Given the description of an element on the screen output the (x, y) to click on. 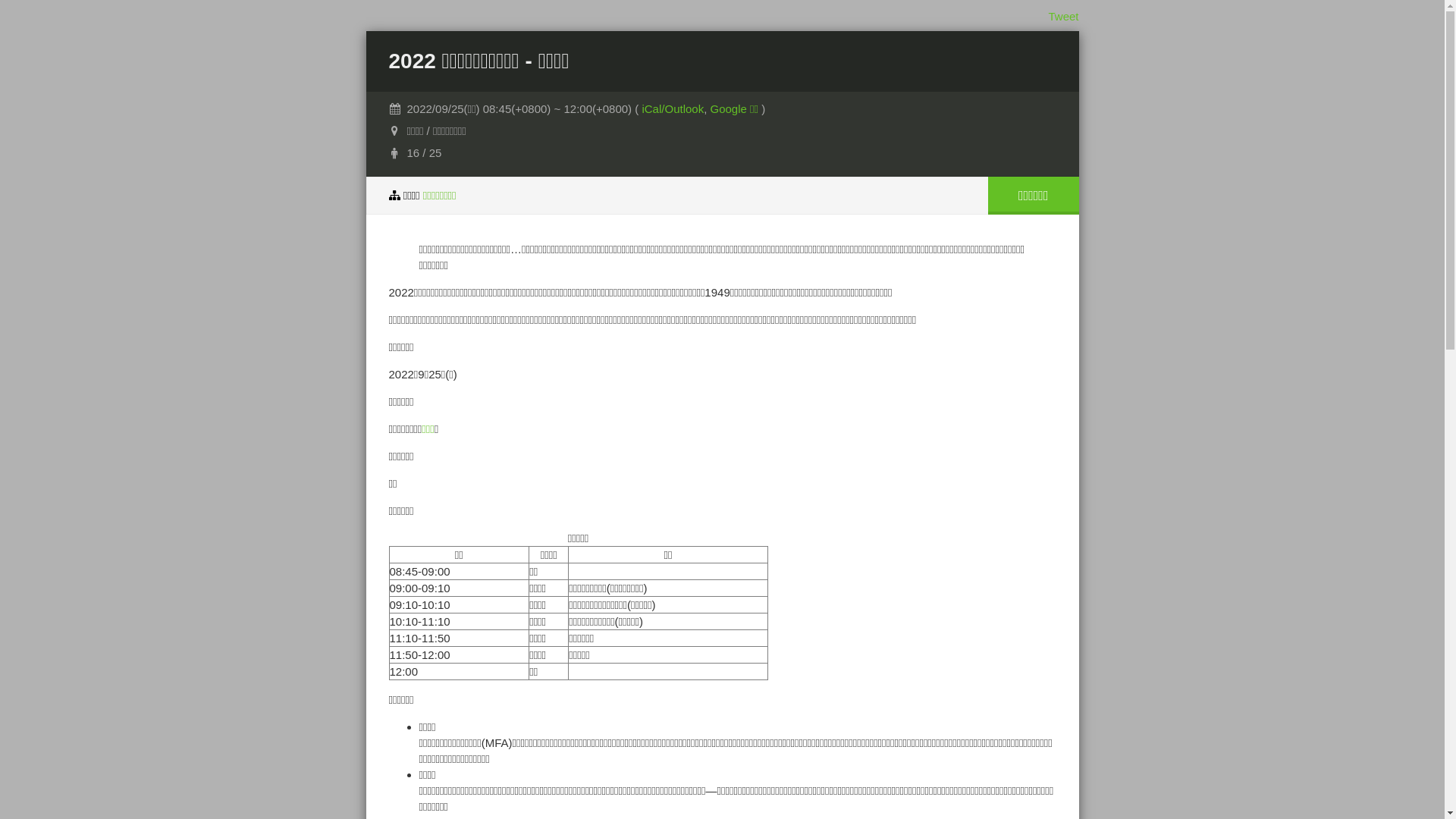
iCal/Outlook Element type: text (672, 108)
Tweet Element type: text (1063, 15)
